Given the description of an element on the screen output the (x, y) to click on. 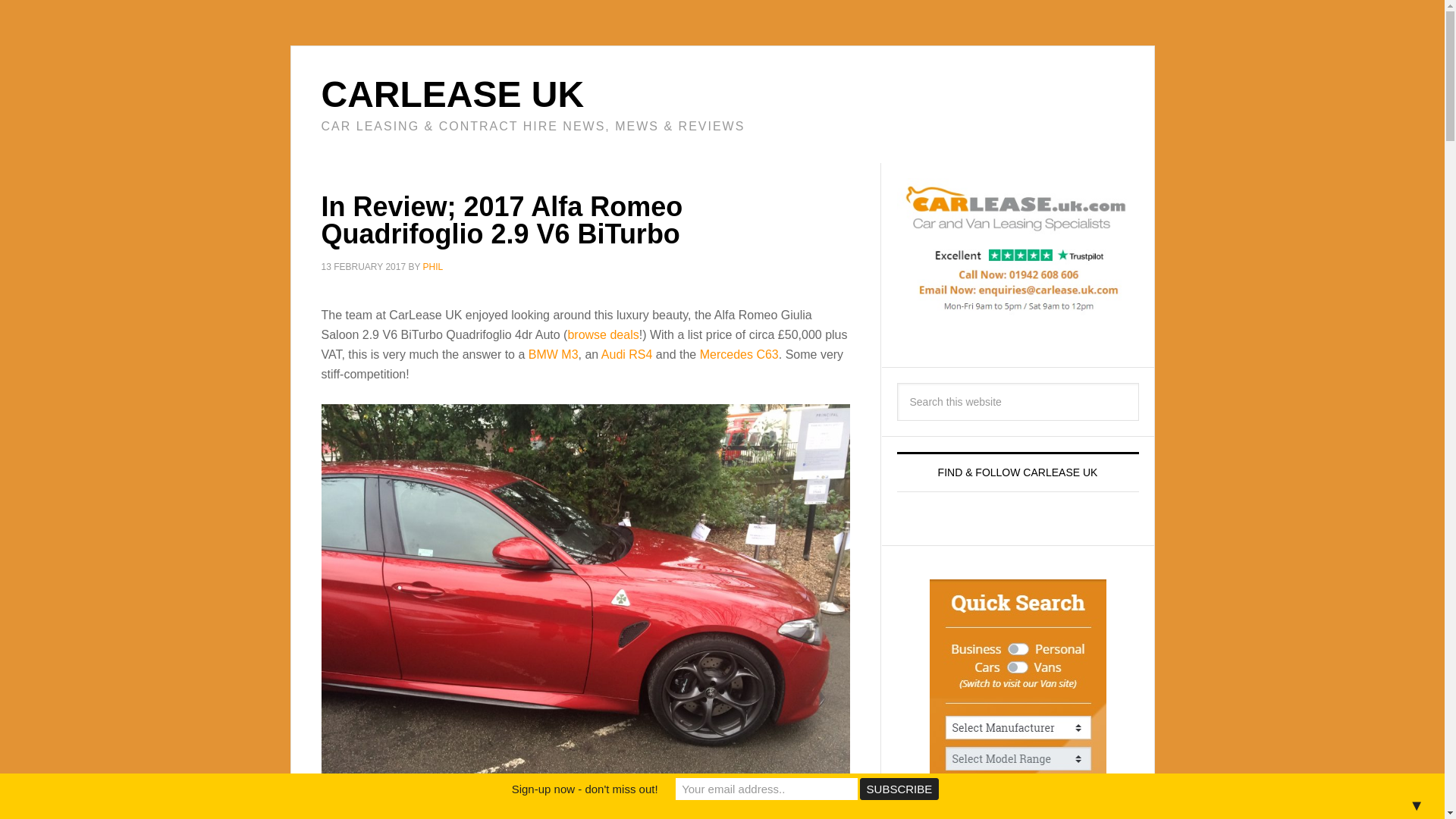
Audi RS4 (626, 353)
BMW M3 (553, 353)
PHIL (433, 266)
Subscribe (899, 789)
browse deals (603, 333)
Mercedes C63 (739, 353)
CARLEASE UK (453, 94)
